Given the description of an element on the screen output the (x, y) to click on. 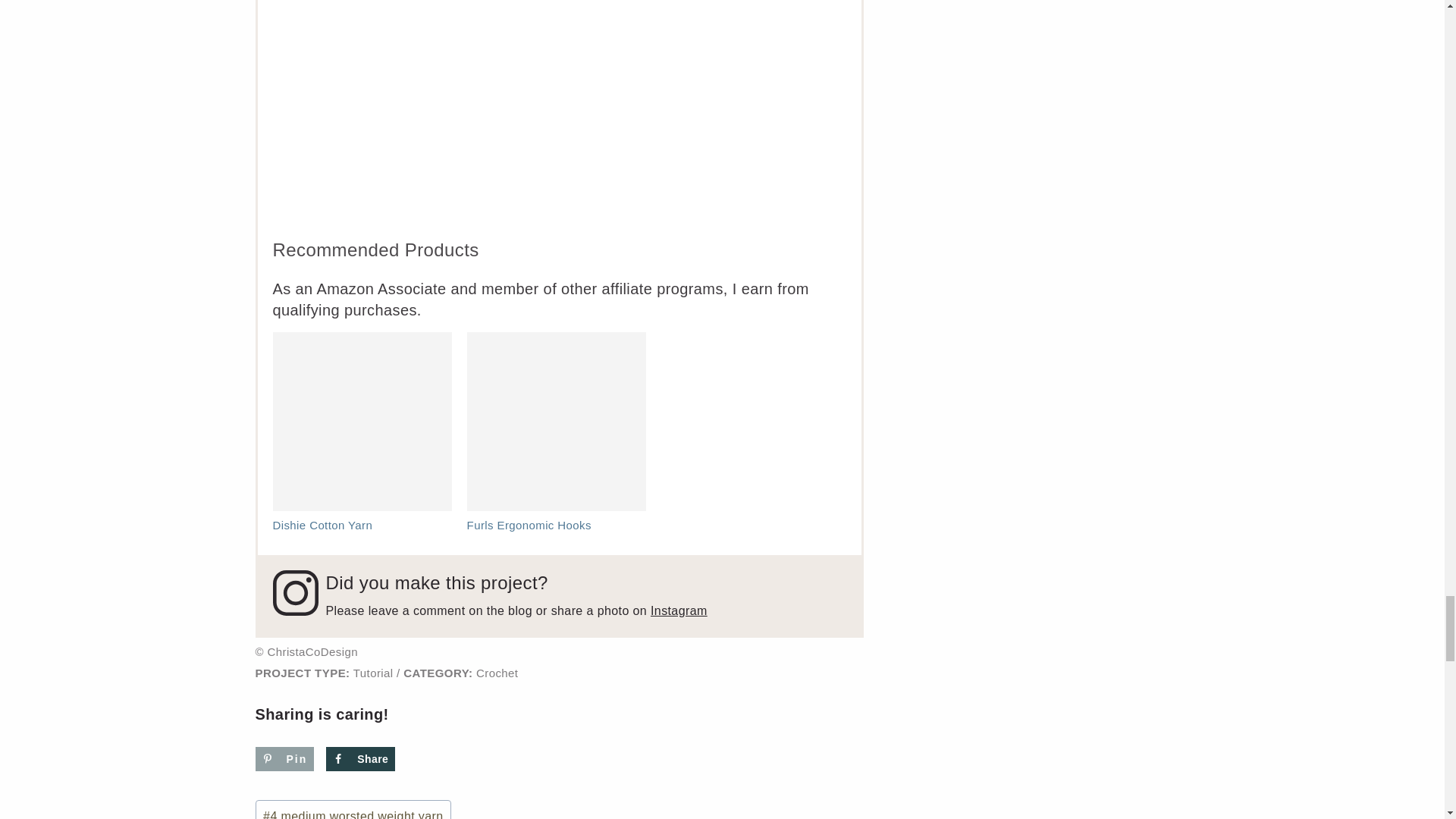
4 medium worsted weight yarn (352, 809)
Save to Pinterest (284, 758)
Share on Facebook (360, 758)
